Given the description of an element on the screen output the (x, y) to click on. 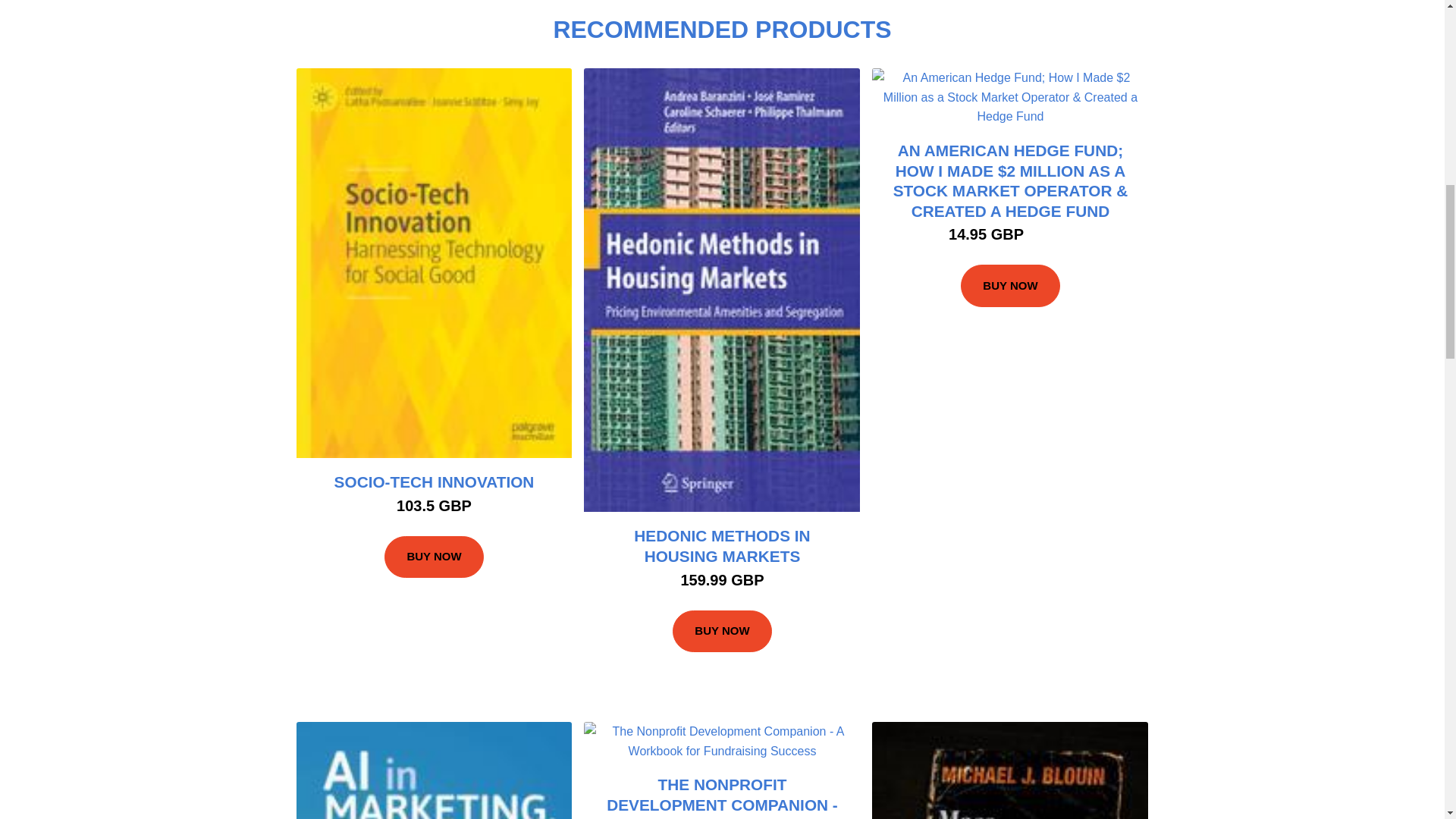
BUY NOW (433, 557)
HEDONIC METHODS IN HOUSING MARKETS (721, 546)
BUY NOW (721, 631)
SOCIO-TECH INNOVATION (434, 481)
BUY NOW (1009, 285)
